Given the description of an element on the screen output the (x, y) to click on. 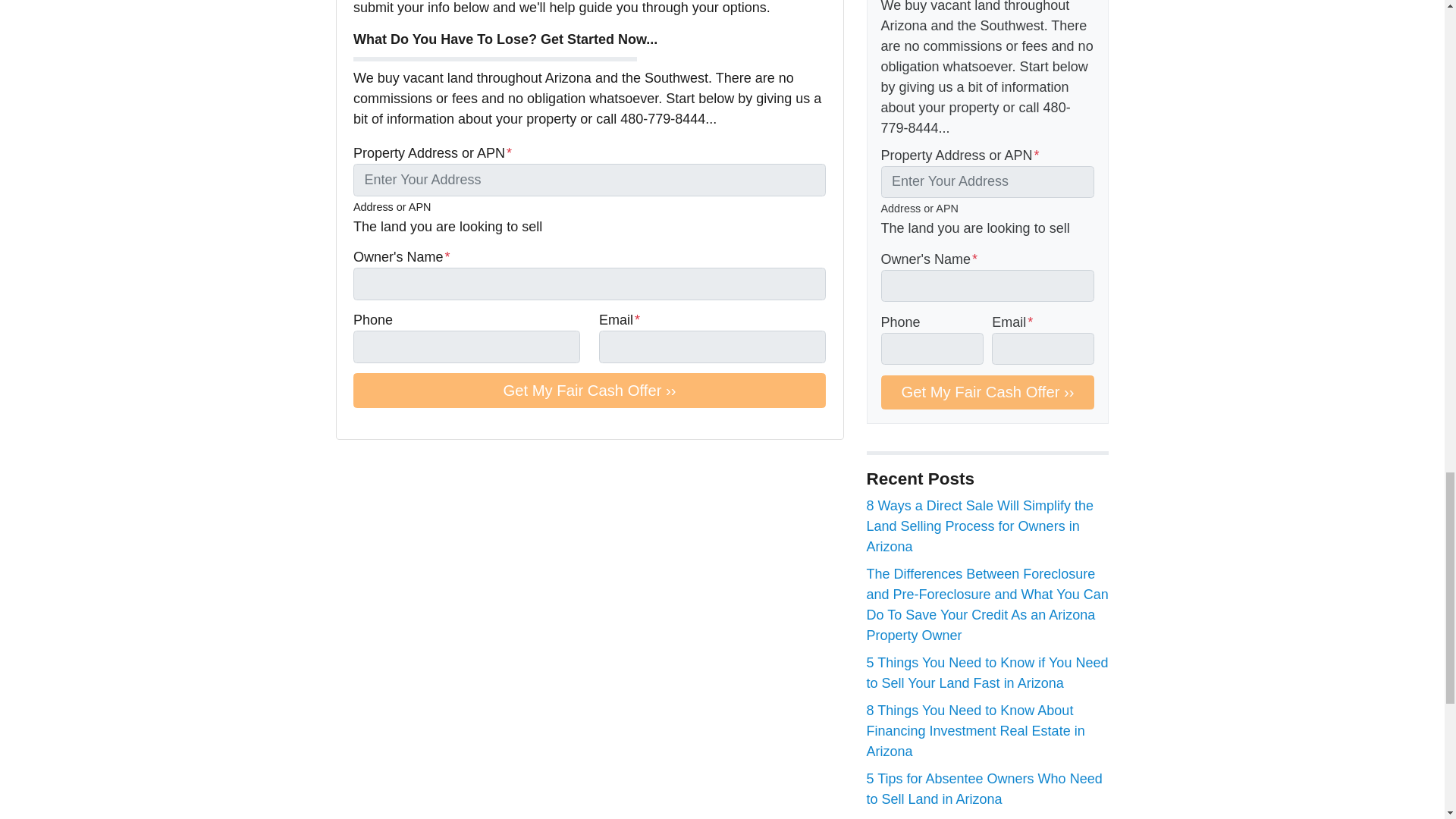
5 Tips for Absentee Owners Who Need to Sell Land in Arizona (984, 788)
